Given the description of an element on the screen output the (x, y) to click on. 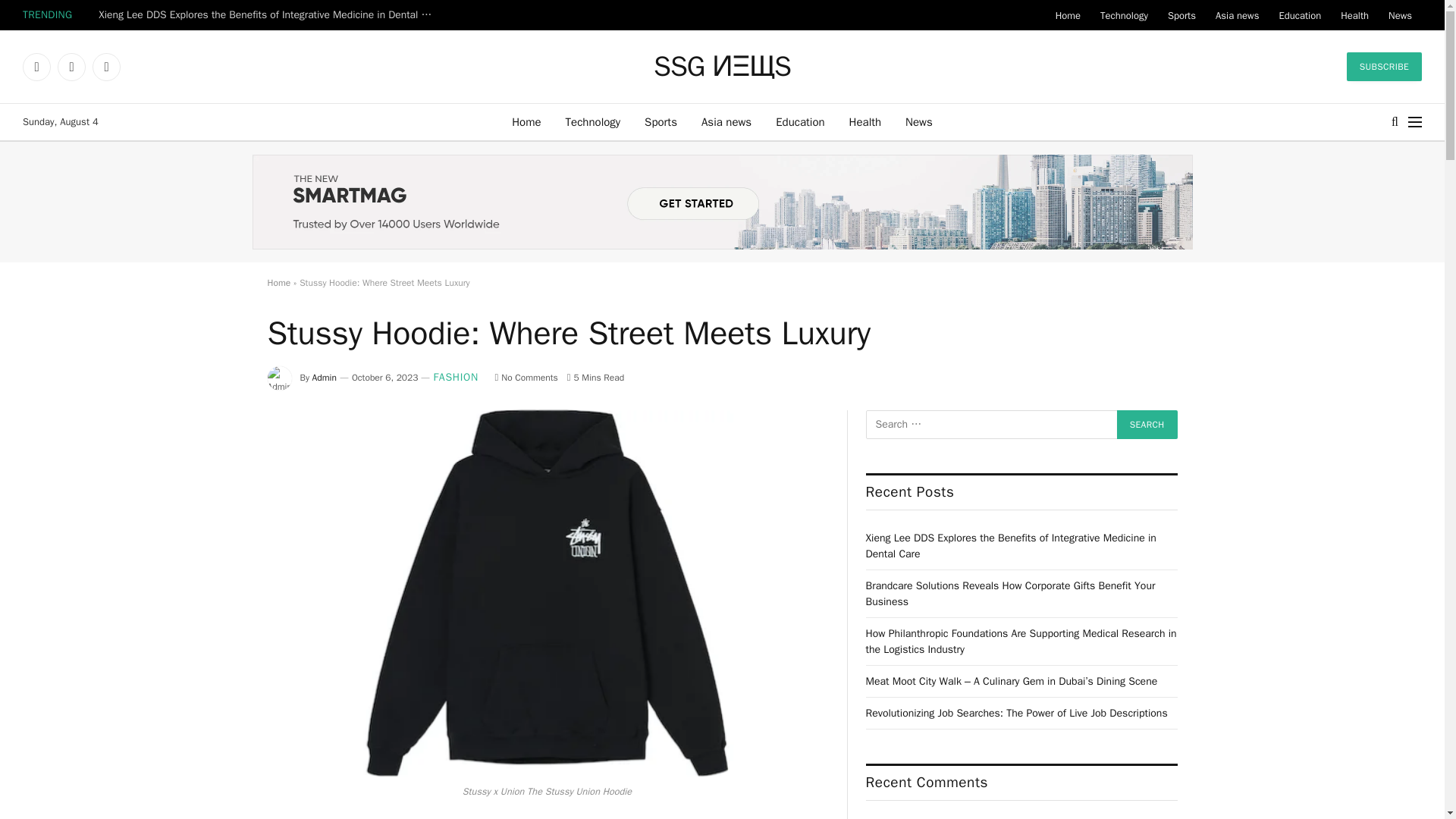
Sports (659, 122)
Home (1067, 15)
Health (865, 122)
Health (1354, 15)
Education (1299, 15)
Search (1146, 424)
News (918, 122)
Asia news (1236, 15)
SUBSCRIBE (1384, 66)
Home (526, 122)
Asia news (725, 122)
Education (798, 122)
Instagram (106, 67)
Technology (1123, 15)
